Given the description of an element on the screen output the (x, y) to click on. 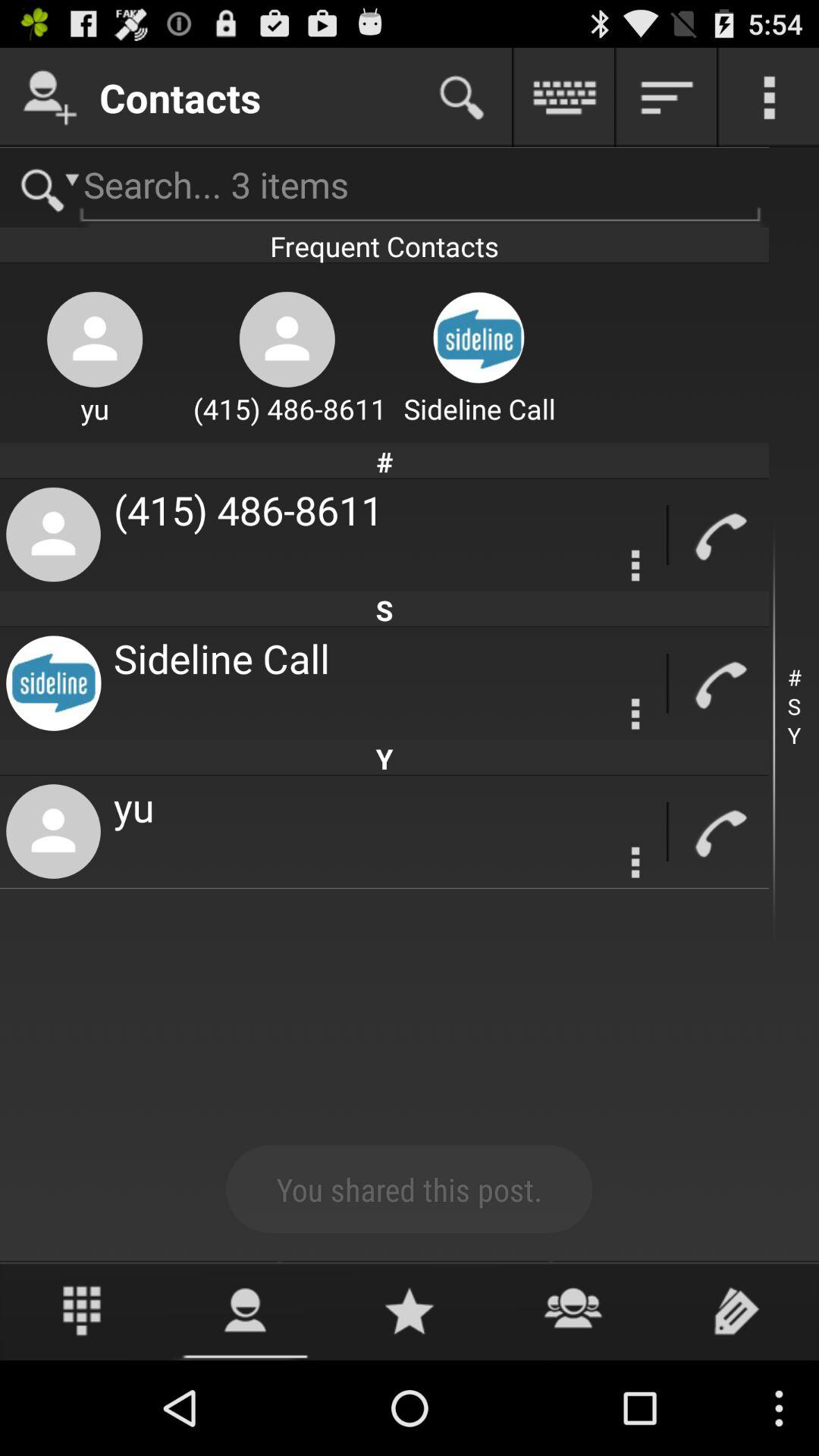
share with friends (573, 1310)
